Given the description of an element on the screen output the (x, y) to click on. 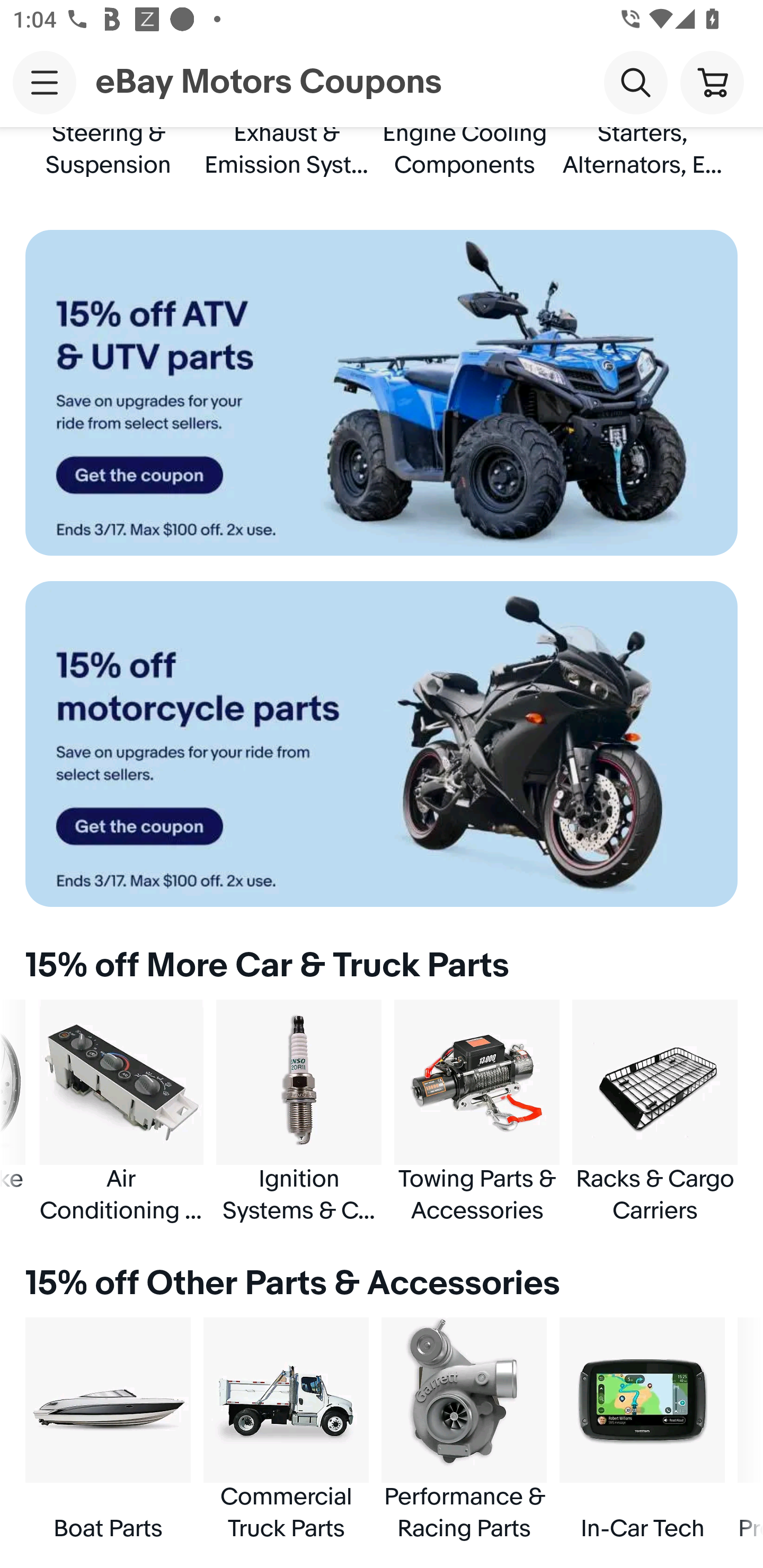
Main navigation, open (44, 82)
Search (635, 81)
Cart button shopping cart (711, 81)
15% off atv and utv parts (381, 392)
15% off motorcycle parts (381, 743)
Air Conditioning & Heating (120, 1112)
Ignition Systems & Components (298, 1112)
Towing Parts & Accessories (476, 1112)
Racks & Cargo Carriers (654, 1112)
Boat Parts (107, 1429)
Commercial Truck Parts (285, 1429)
Performance & Racing Parts (464, 1429)
In-Car Tech (641, 1429)
